Given the description of an element on the screen output the (x, y) to click on. 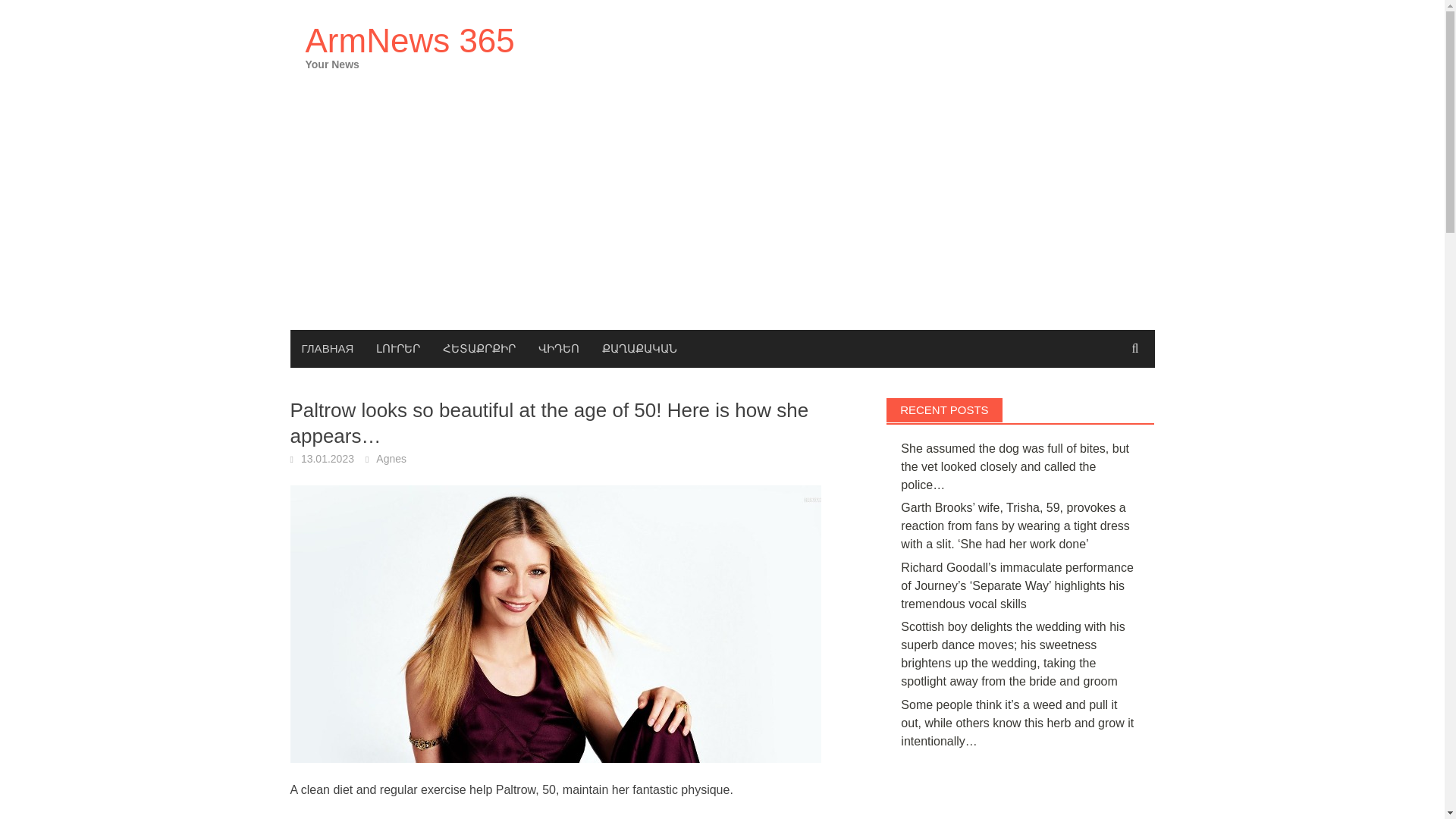
Agnes (390, 458)
13.01.2023 (327, 458)
ArmNews 365 (408, 40)
